Given the description of an element on the screen output the (x, y) to click on. 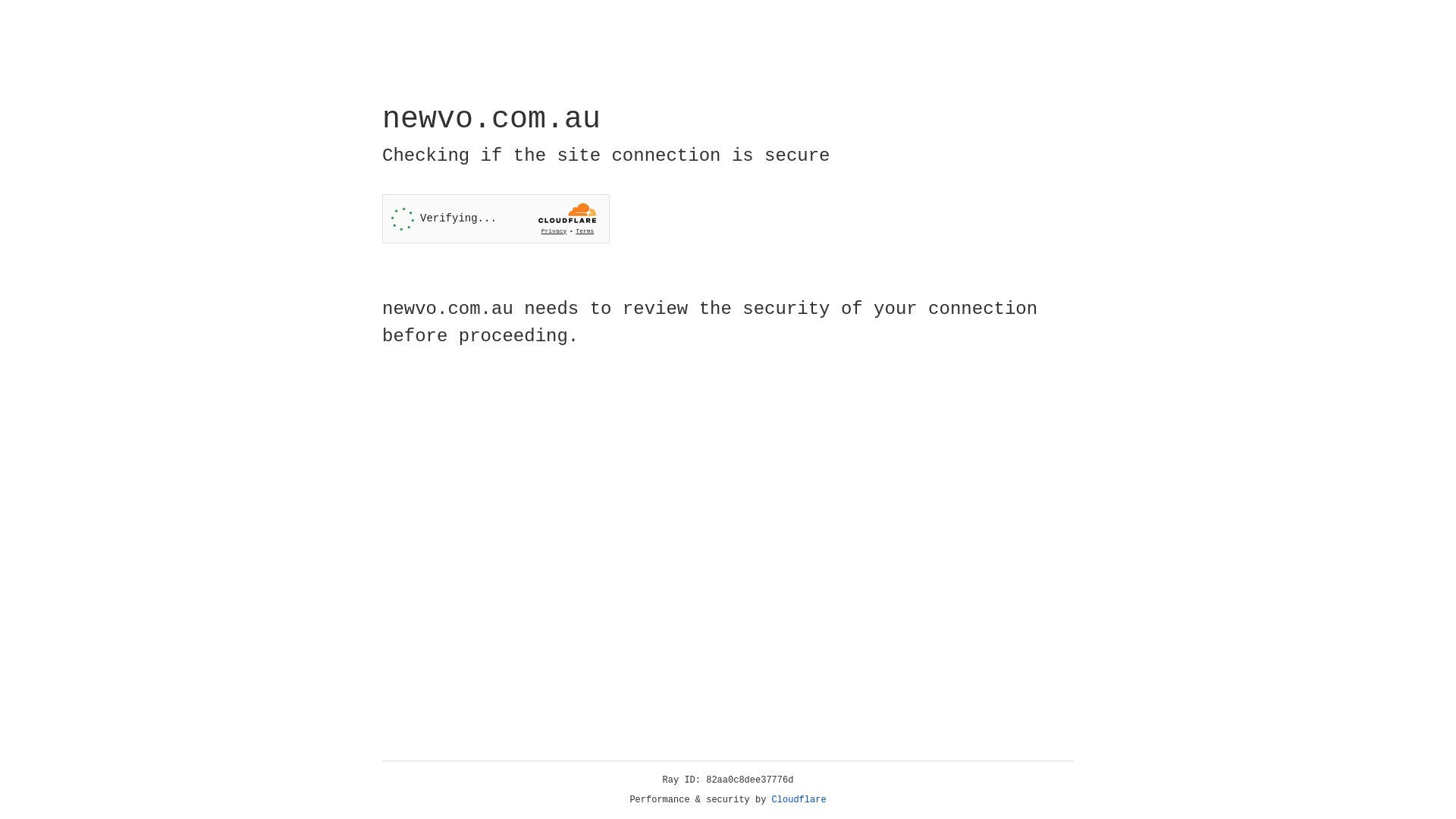
Cloudflare Element type: text (798, 799)
Widget containing a Cloudflare security challenge Element type: hover (495, 218)
